Given the description of an element on the screen output the (x, y) to click on. 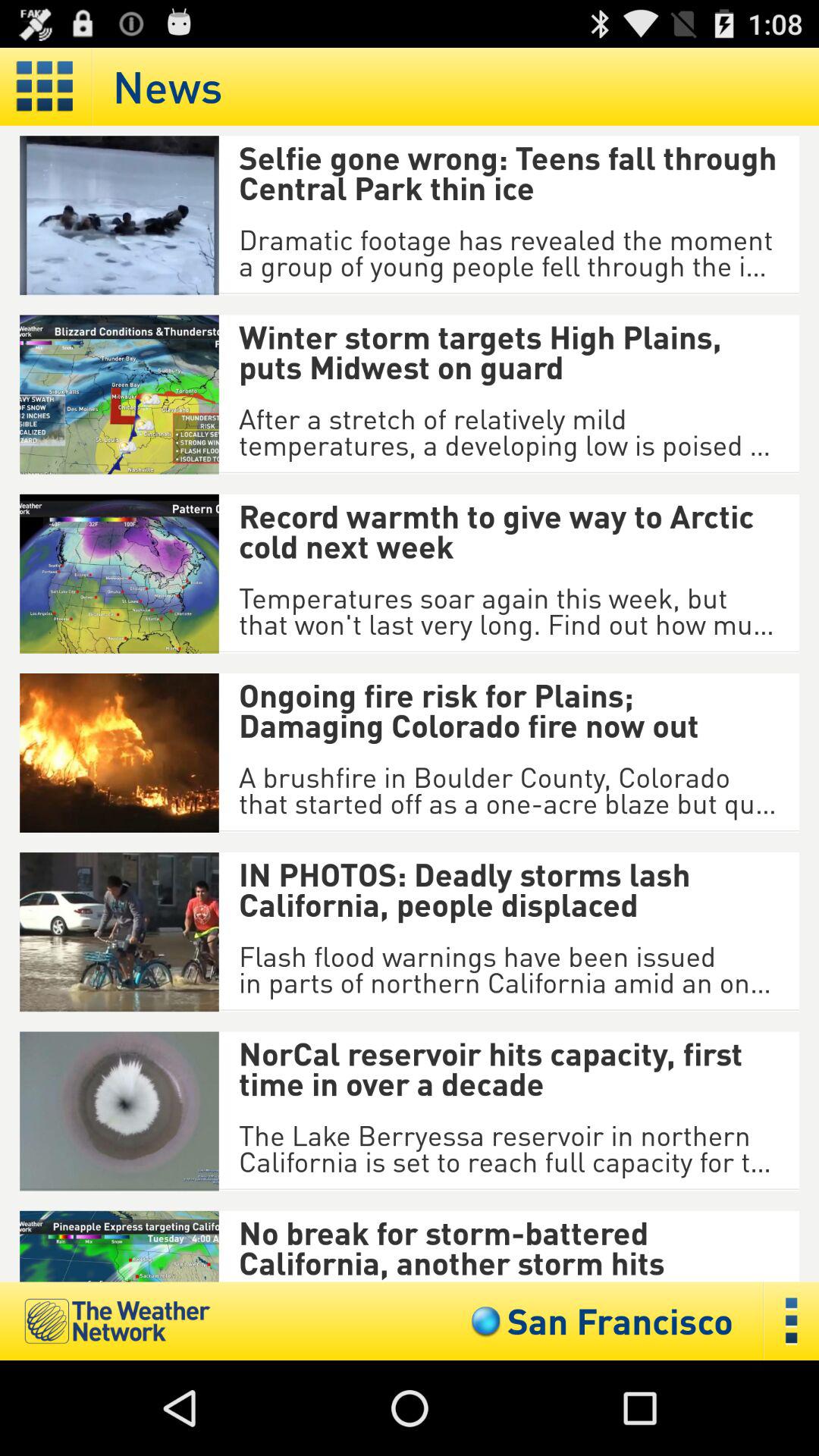
open the san francisco icon (598, 1320)
